Given the description of an element on the screen output the (x, y) to click on. 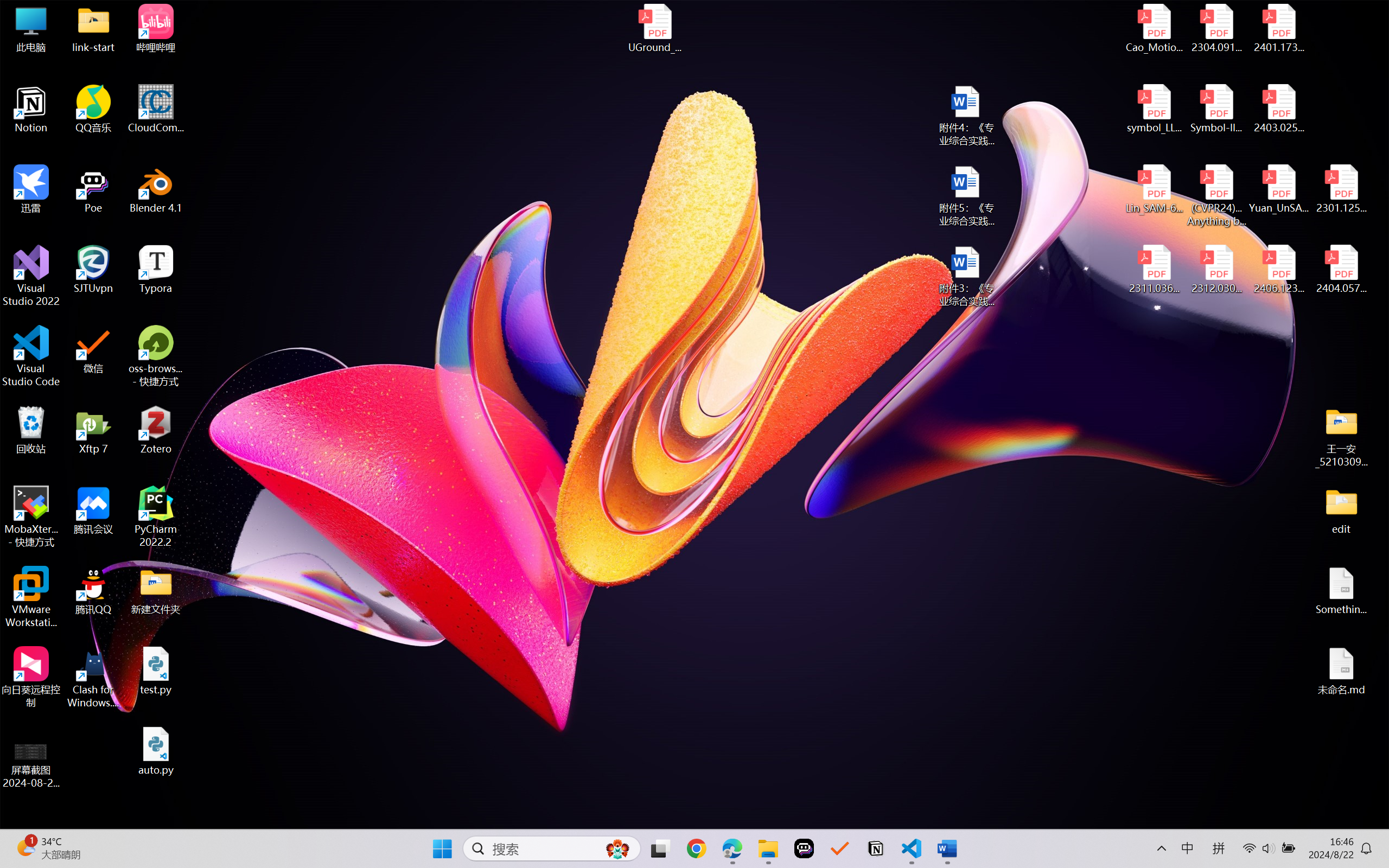
Blender 4.1 (156, 189)
Xftp 7 (93, 430)
test.py (156, 670)
CloudCompare (156, 109)
SJTUvpn (93, 269)
2404.05719v1.pdf (1340, 269)
